Given the description of an element on the screen output the (x, y) to click on. 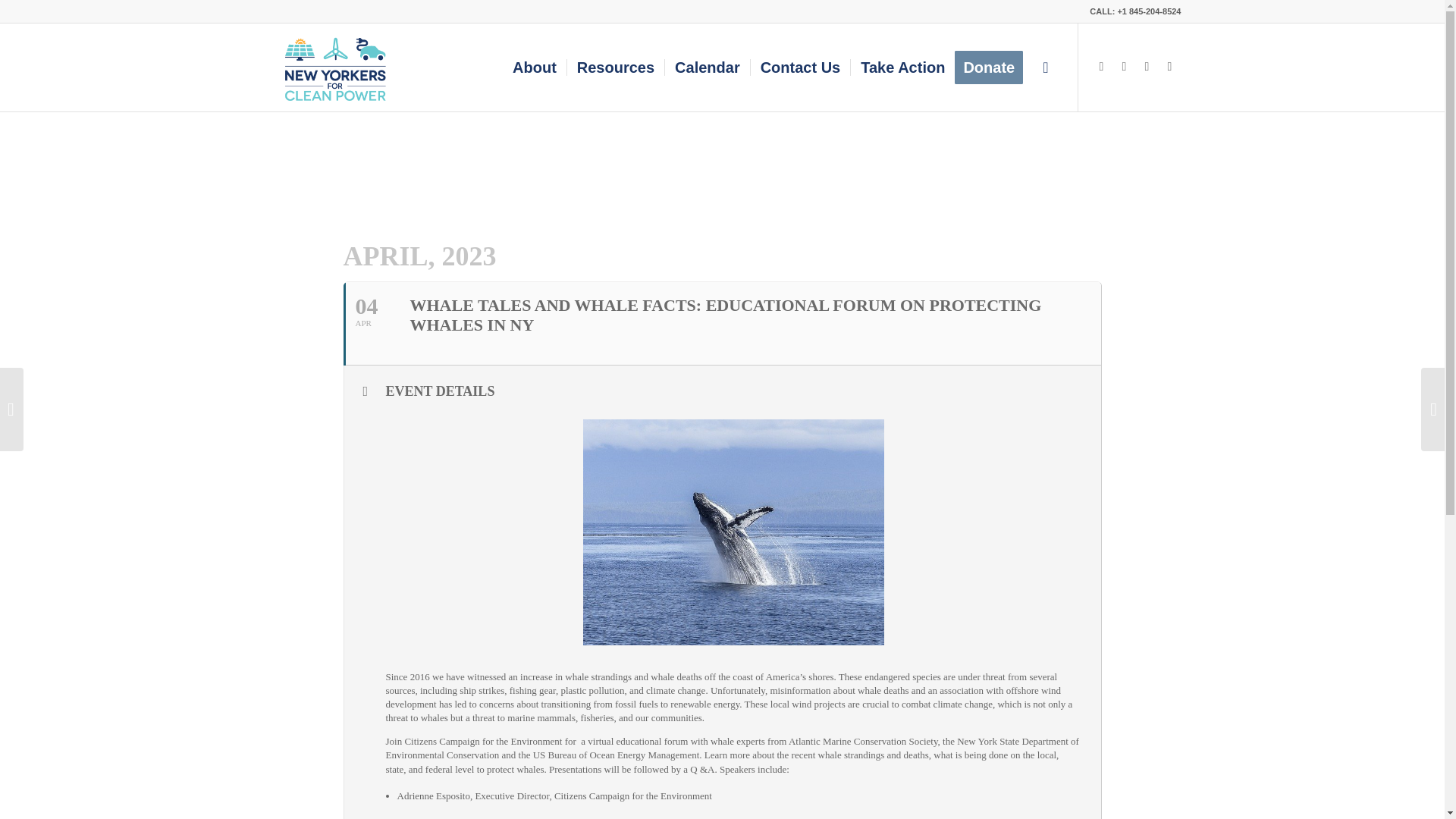
Take Action (902, 67)
Facebook (1146, 66)
Calendar (706, 67)
Contact Us (799, 67)
Instagram (1124, 66)
Twitter (1101, 66)
Resources (614, 67)
Youtube (1169, 66)
